Given the description of an element on the screen output the (x, y) to click on. 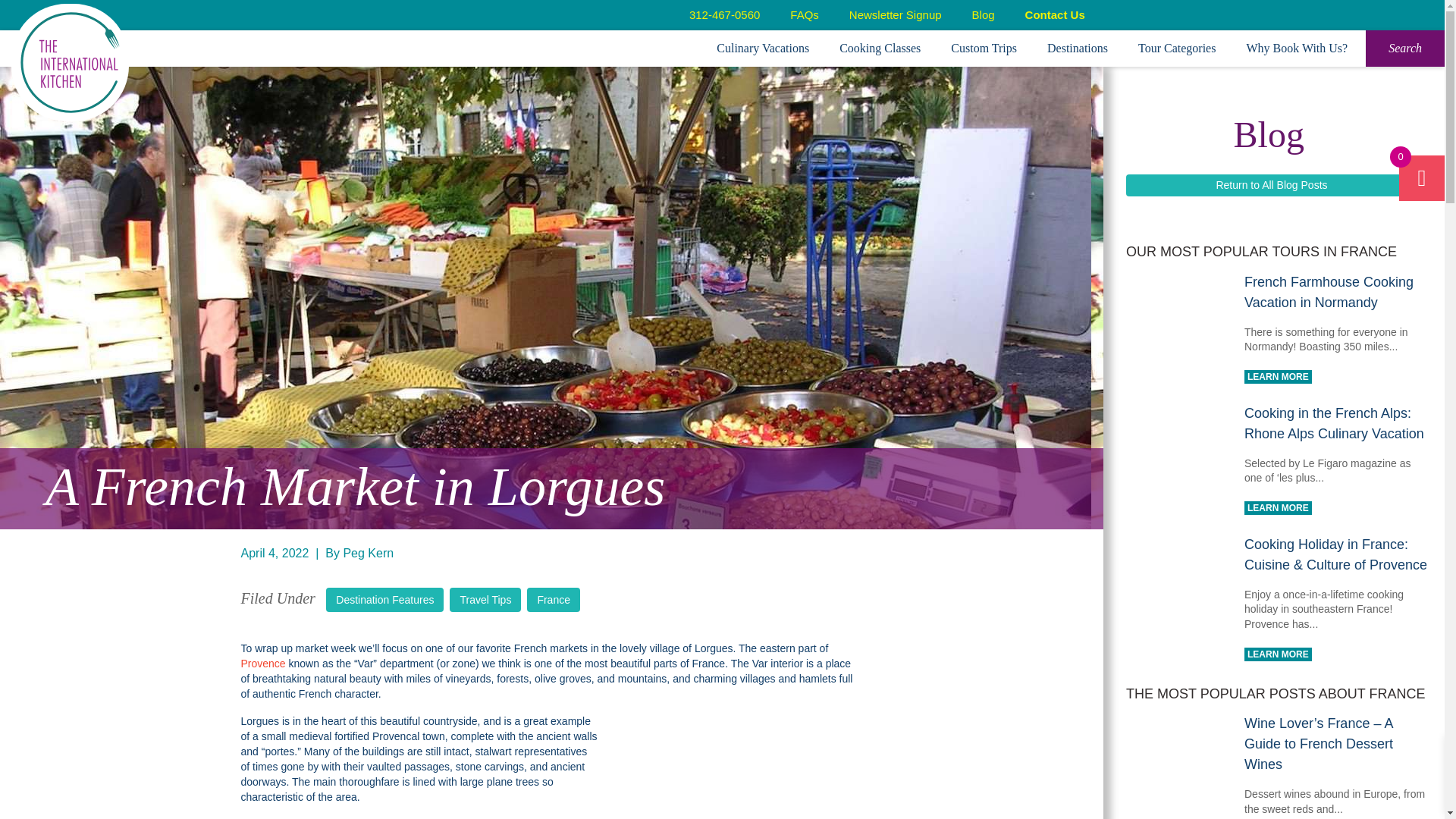
Facebook (1166, 18)
Cooking Classes (880, 47)
Twitter (1231, 18)
Custom Trips (983, 47)
Newsletter Signup (895, 14)
FAQs (804, 14)
Why Book With Us? (1297, 47)
Custom Trips (983, 47)
312-467-0560 (724, 14)
Blog (983, 14)
